Given the description of an element on the screen output the (x, y) to click on. 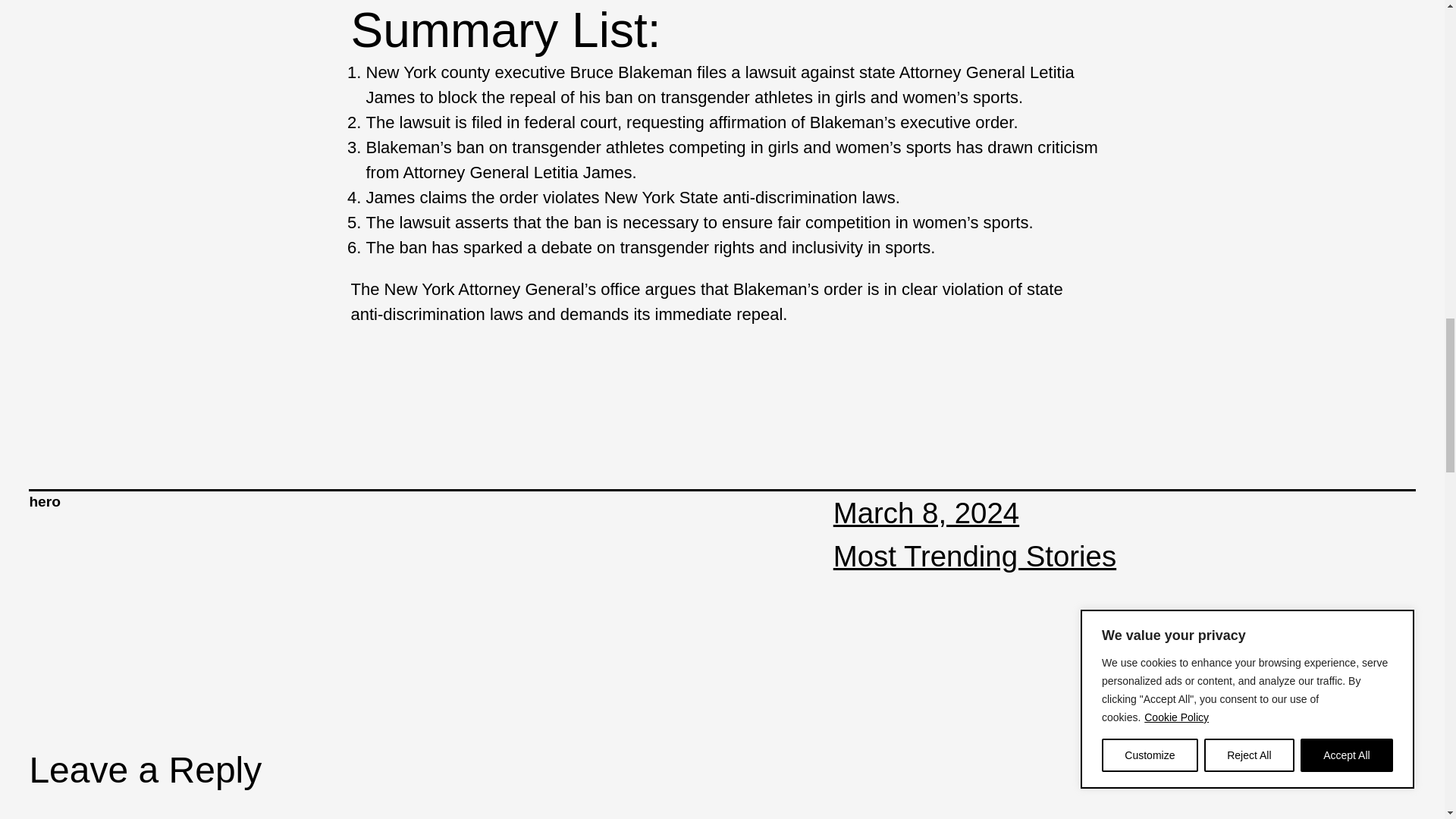
Most Trending Stories (974, 555)
March 8, 2024 (925, 512)
